Given the description of an element on the screen output the (x, y) to click on. 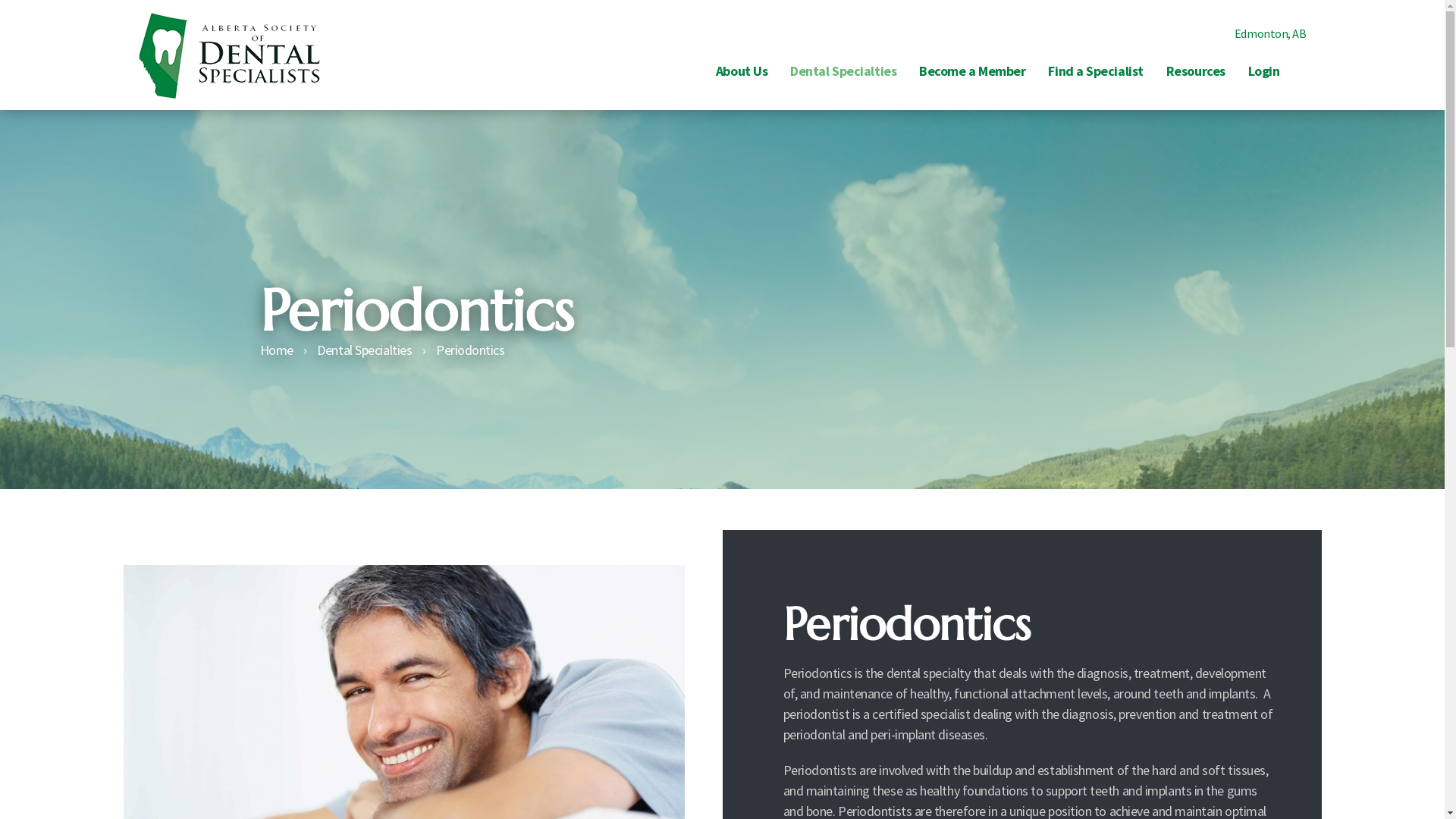
Become a Member Element type: text (971, 70)
Find a Specialist Element type: text (1095, 70)
Login Element type: text (1263, 70)
Dental Specialties Element type: text (363, 349)
Resources Element type: text (1195, 70)
Edmonton, AB Element type: text (1260, 32)
Home Element type: text (275, 349)
Dental Specialties Element type: text (842, 70)
Periodontics Element type: text (470, 349)
About Us Element type: text (741, 70)
